Given the description of an element on the screen output the (x, y) to click on. 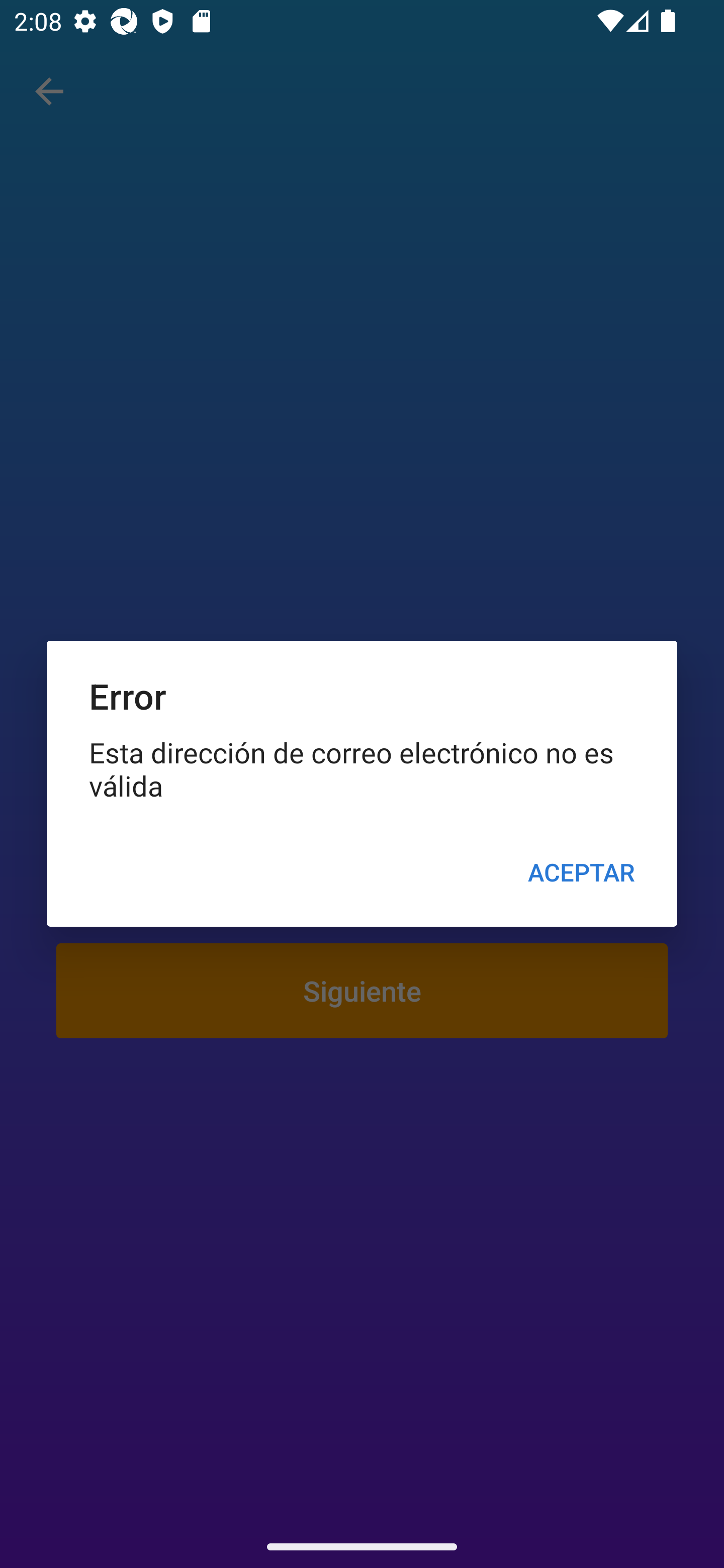
ACEPTAR (580, 872)
